Given the description of an element on the screen output the (x, y) to click on. 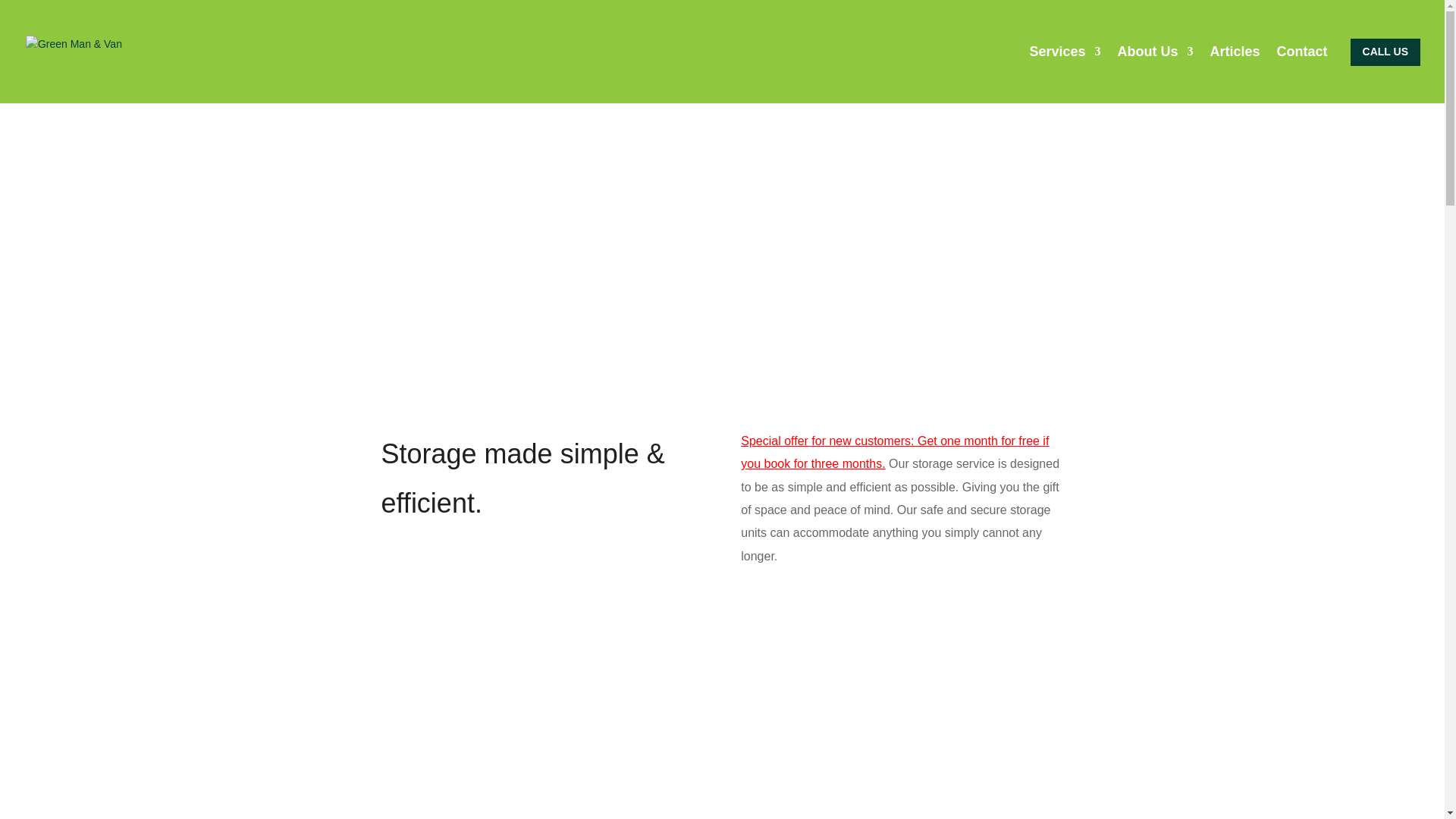
Contact (1301, 74)
About Us (1155, 74)
CALL US (1386, 52)
Articles (1234, 74)
Services (1064, 74)
